Given the description of an element on the screen output the (x, y) to click on. 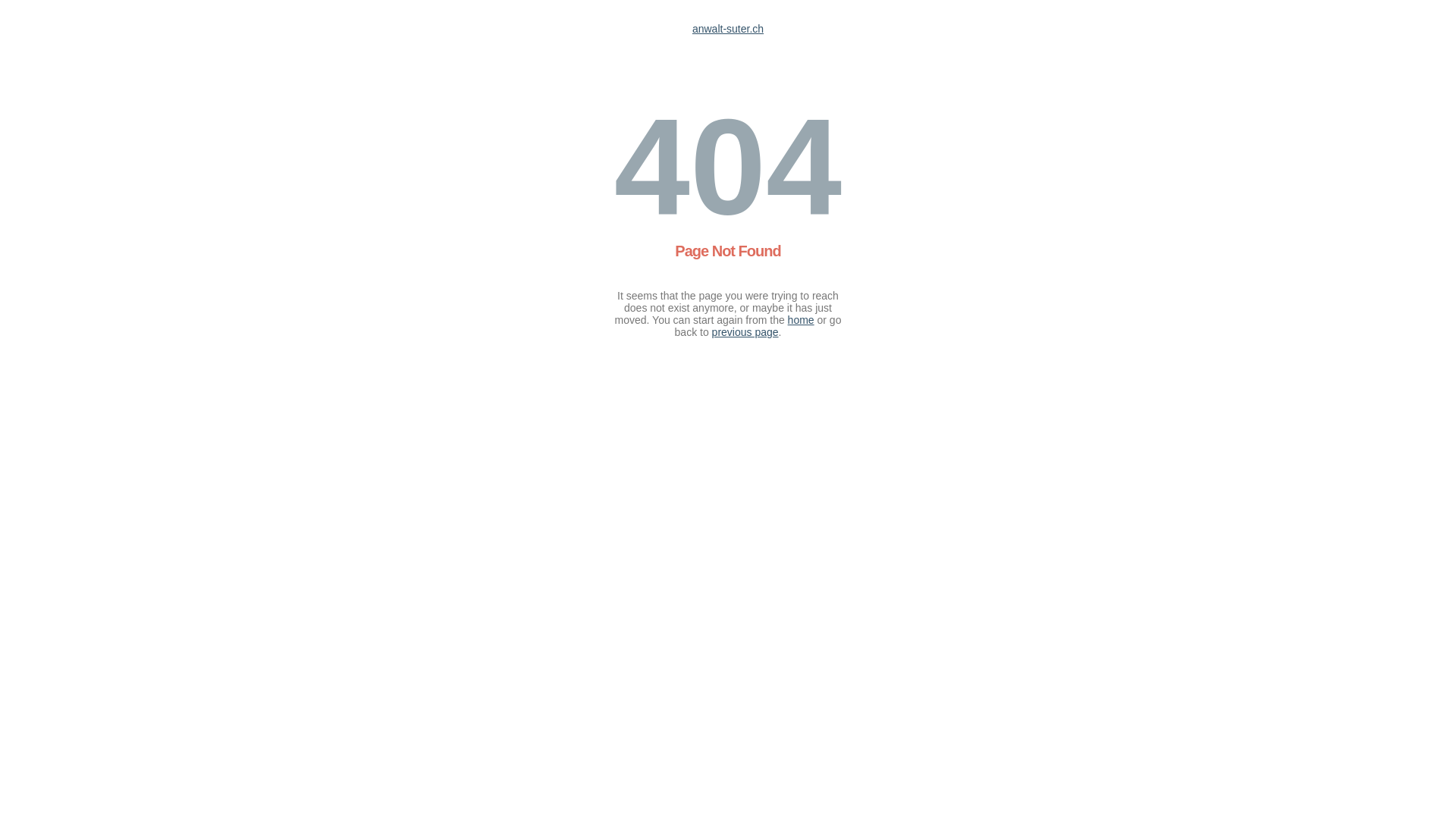
anwalt-suter.ch Element type: text (727, 28)
home Element type: text (800, 319)
previous page Element type: text (745, 332)
